Given the description of an element on the screen output the (x, y) to click on. 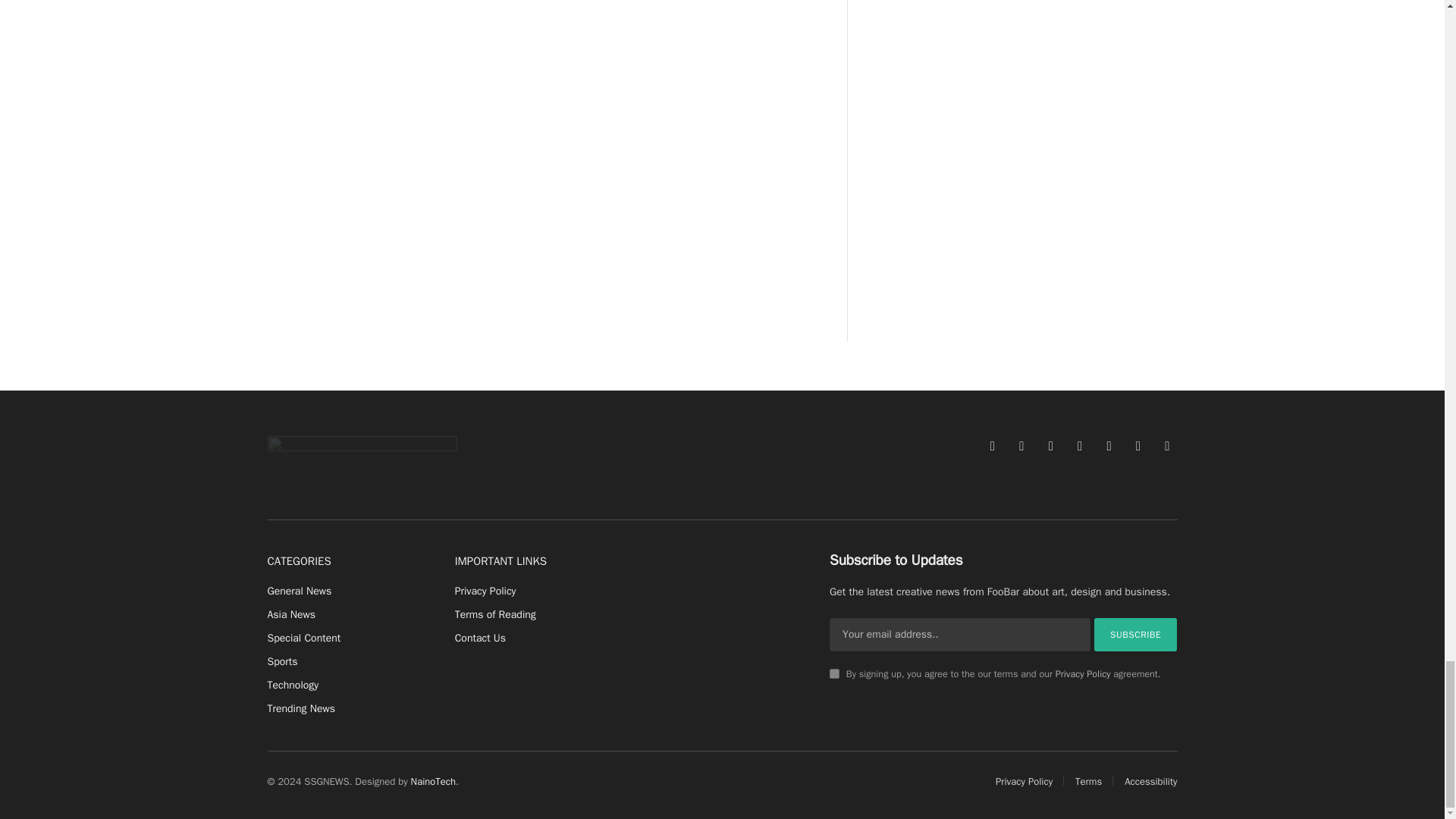
on (834, 673)
Subscribe (1135, 634)
